Given the description of an element on the screen output the (x, y) to click on. 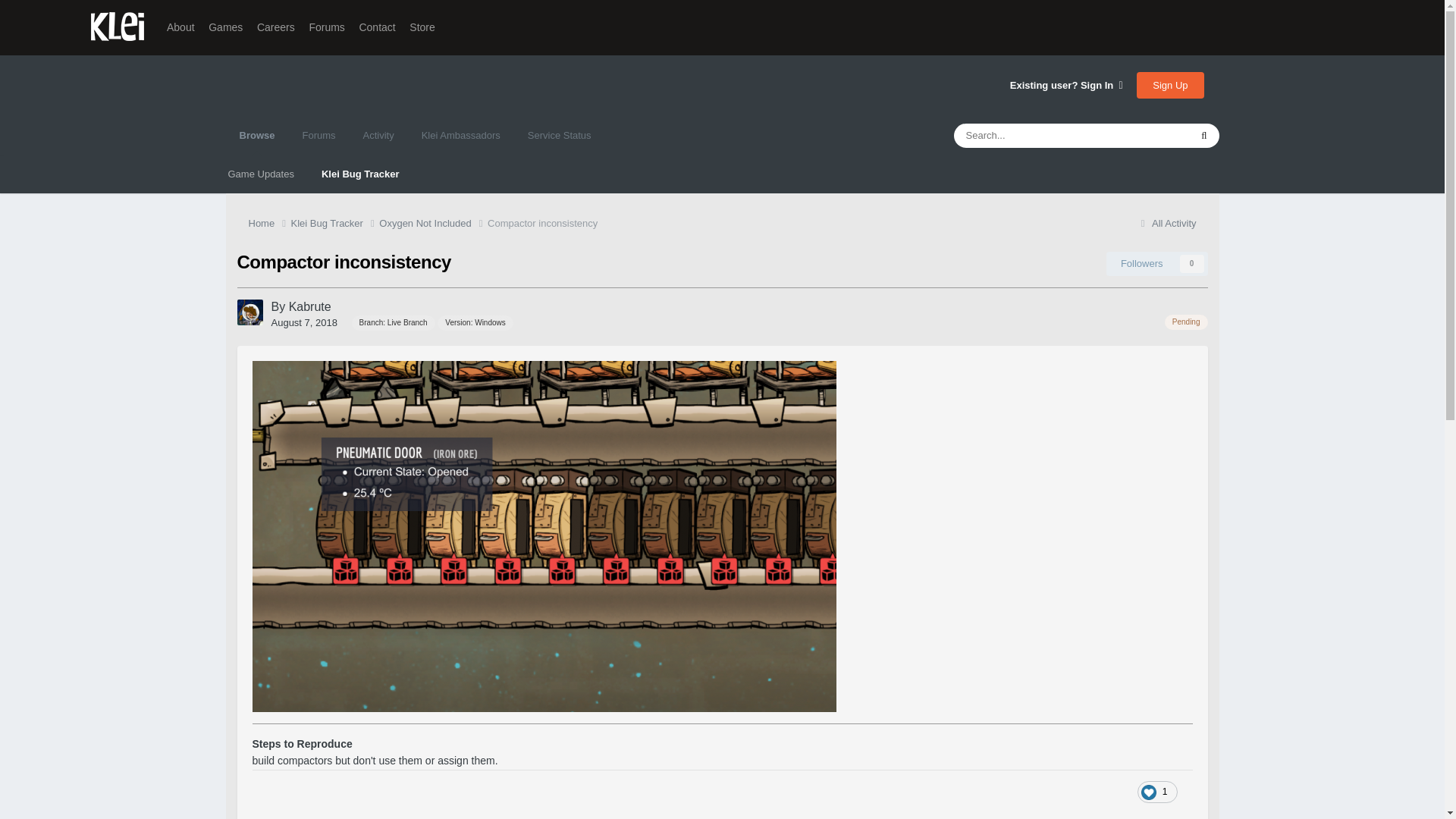
Careers (276, 27)
Home (269, 223)
Go to Kabrute's profile (309, 306)
About (181, 27)
Sign Up (1170, 85)
Klei Ambassadors (460, 135)
Store (421, 27)
Browse (256, 135)
Games (225, 27)
Existing user? Sign In   (1066, 84)
